Given the description of an element on the screen output the (x, y) to click on. 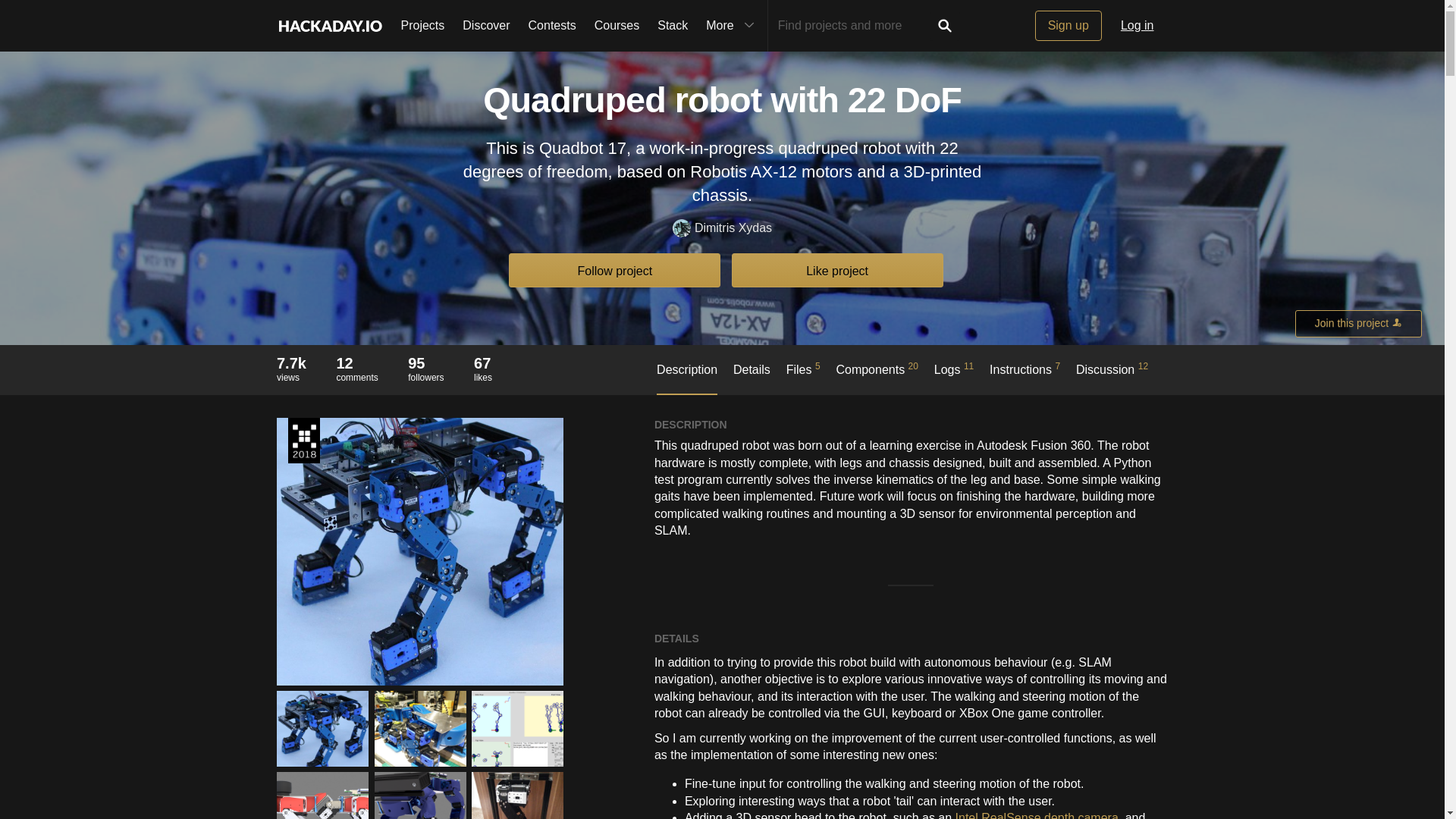
Sign up (1068, 25)
Description (686, 377)
Join this project (1358, 323)
Components 20 (876, 376)
Comments (356, 362)
Files 5 (803, 376)
Hackaday.io (329, 25)
Logs 11 (954, 376)
Details (751, 377)
View Count (356, 368)
Contests (290, 362)
Followers (552, 25)
More (425, 362)
Description (732, 25)
